Given the description of an element on the screen output the (x, y) to click on. 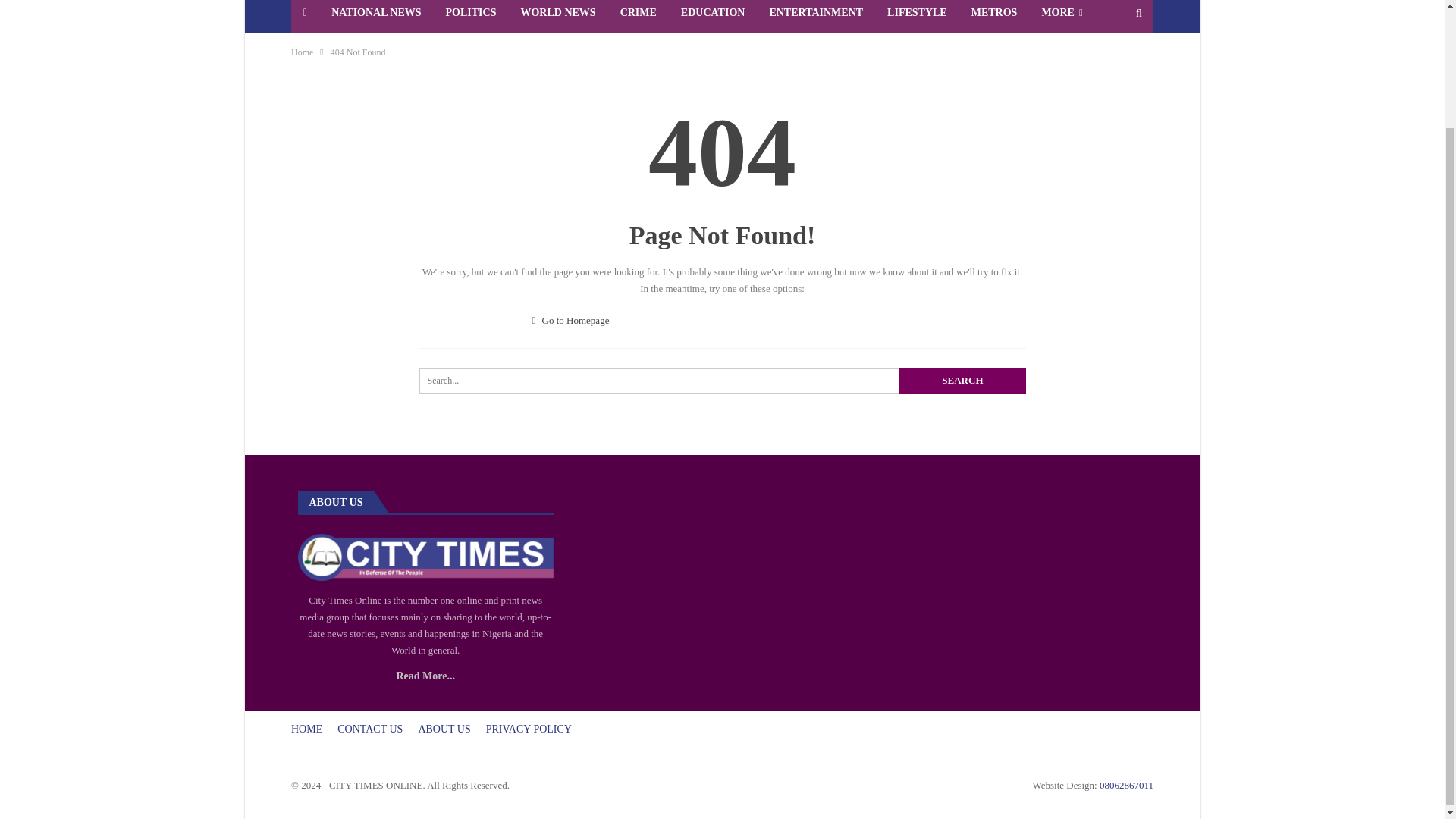
ENTERTAINMENT (816, 16)
MORE (1061, 16)
Search (962, 380)
Home (302, 52)
HOME (306, 728)
WORLD NEWS (557, 16)
PRIVACY POLICY (529, 728)
NATIONAL NEWS (375, 16)
EDUCATION (712, 16)
CRIME (638, 16)
